Given the description of an element on the screen output the (x, y) to click on. 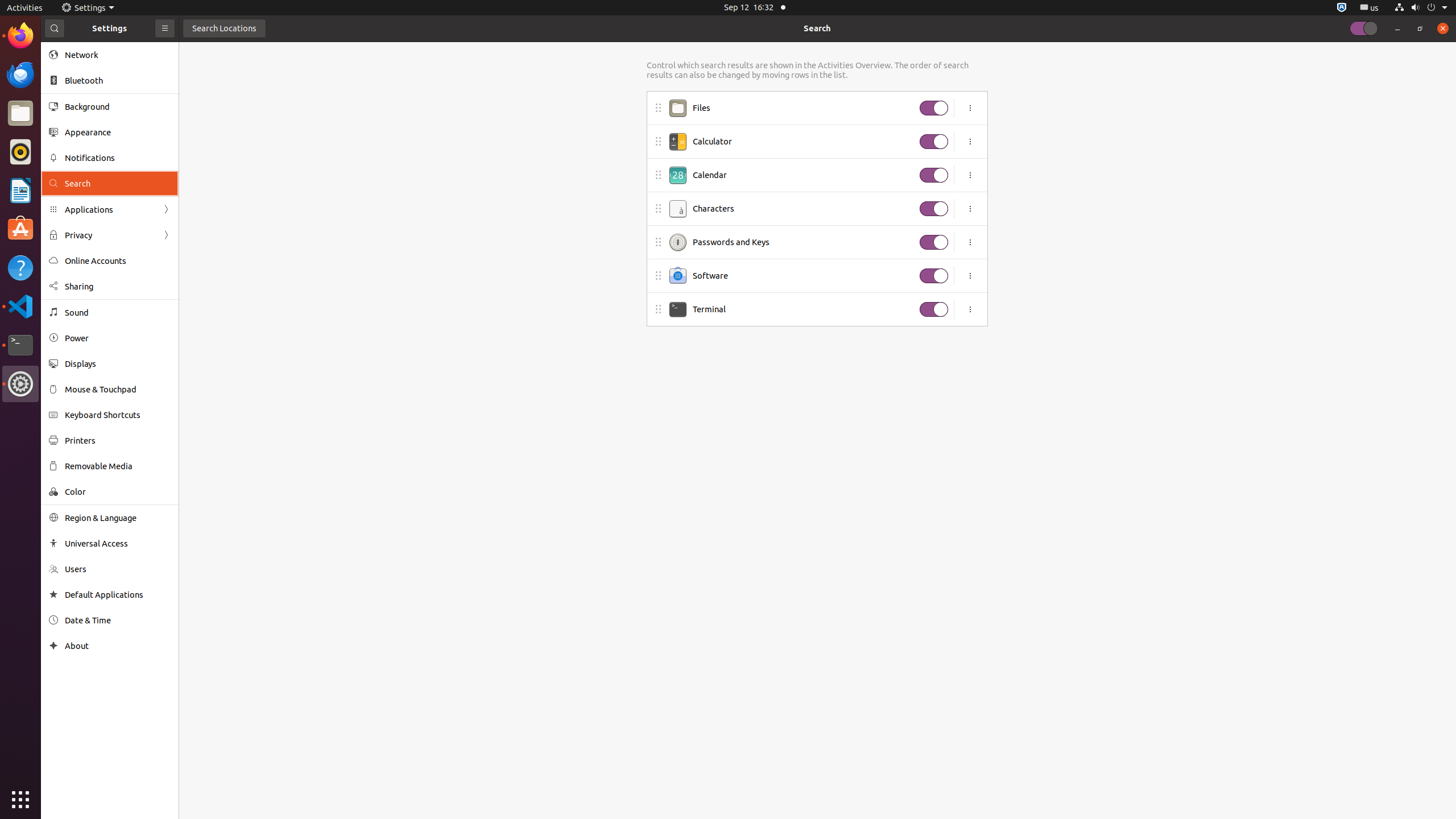
Trash Element type: label (75, 108)
Calendar Element type: label (802, 174)
Appearance Element type: label (117, 132)
